Given the description of an element on the screen output the (x, y) to click on. 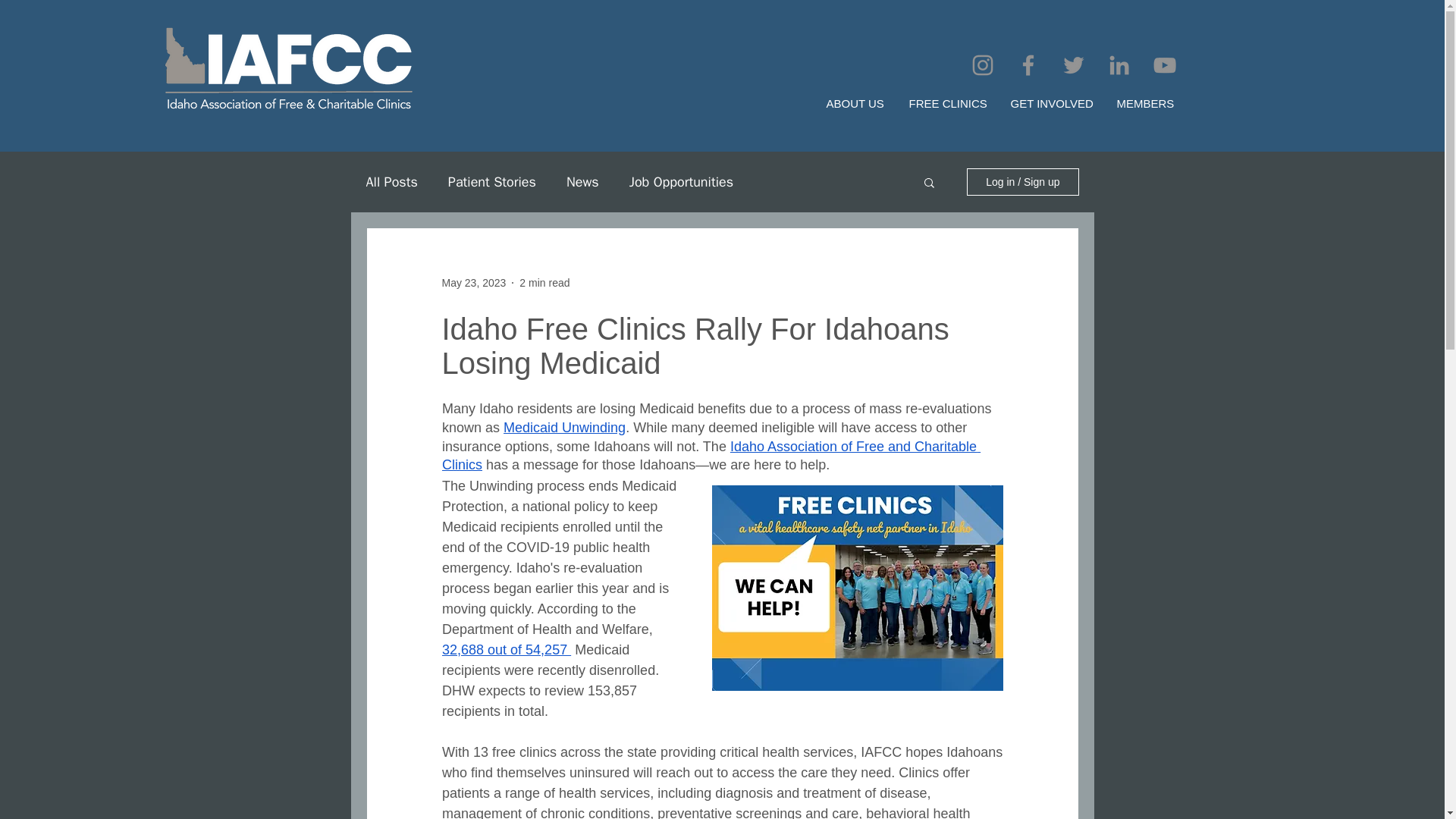
32,688 out of 54,257  (505, 649)
All Posts (390, 181)
Patient Stories (491, 181)
News (582, 181)
Idaho Association of Free and Charitable Clinics (710, 455)
2 min read (544, 282)
May 23, 2023 (473, 282)
Medicaid Unwinding (564, 427)
Job Opportunities (680, 181)
